Given the description of an element on the screen output the (x, y) to click on. 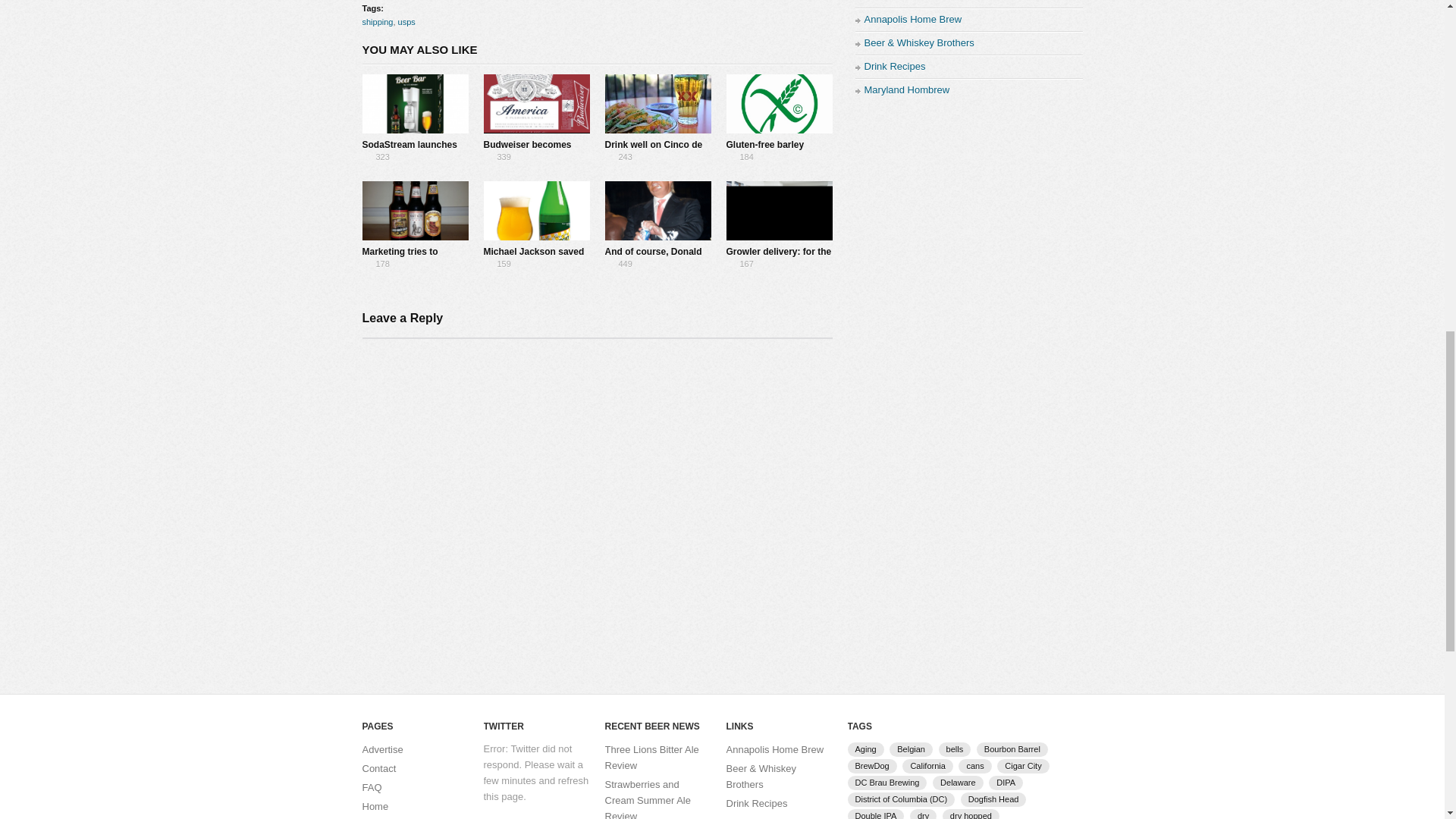
Drink well on Cinco de Mayo (658, 104)
shipping (377, 21)
SodaStream launches an instant beer machine and NO NO NO NO (415, 104)
Permalink to Drink well on Cinco de Mayo (654, 152)
Drink well on Cinco de Mayo (654, 152)
SodaStream launches an instant beer machine and NO NO NO NO (413, 159)
usps (405, 21)
